Given the description of an element on the screen output the (x, y) to click on. 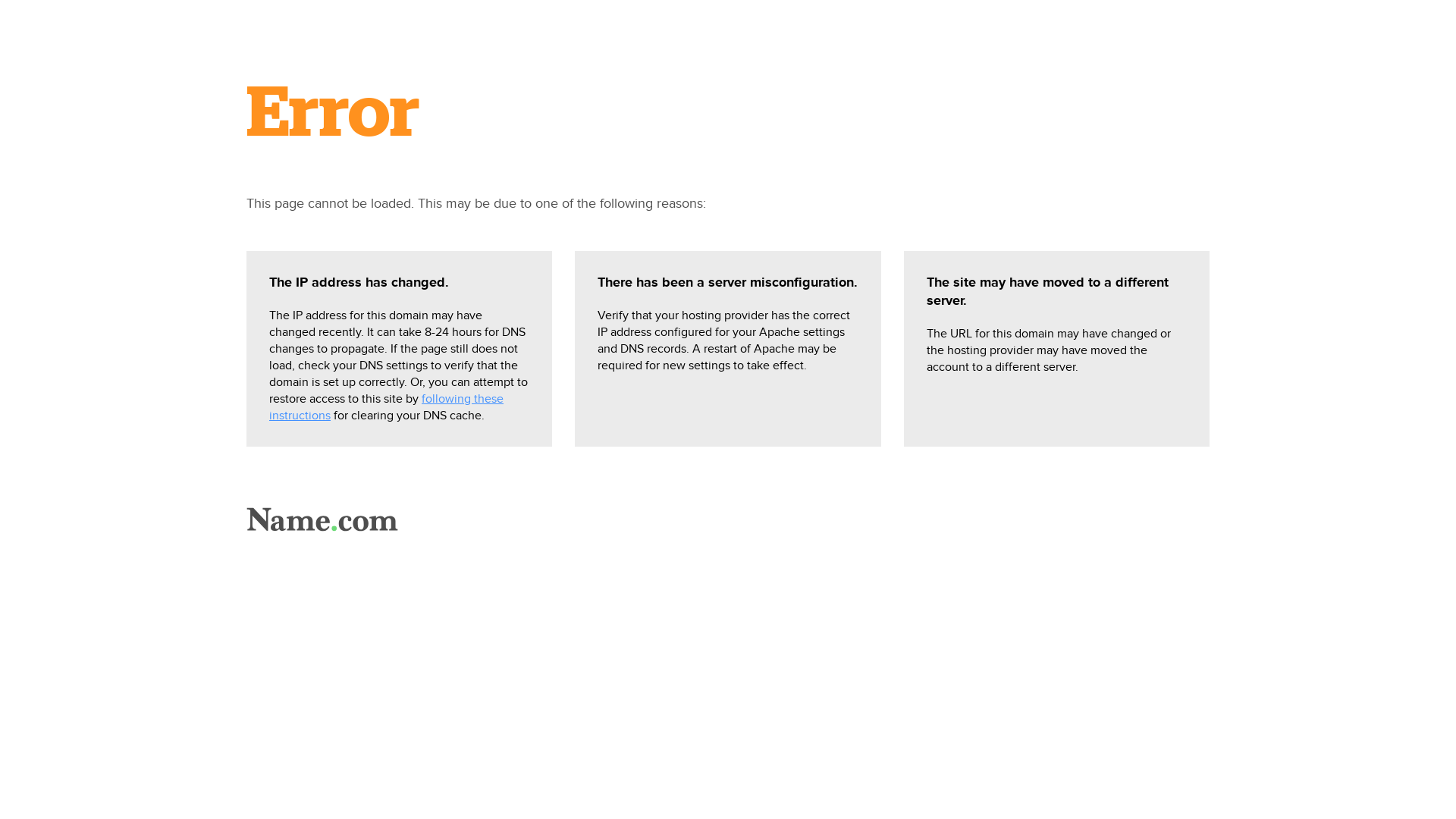
following these instructions Element type: text (386, 407)
